Given the description of an element on the screen output the (x, y) to click on. 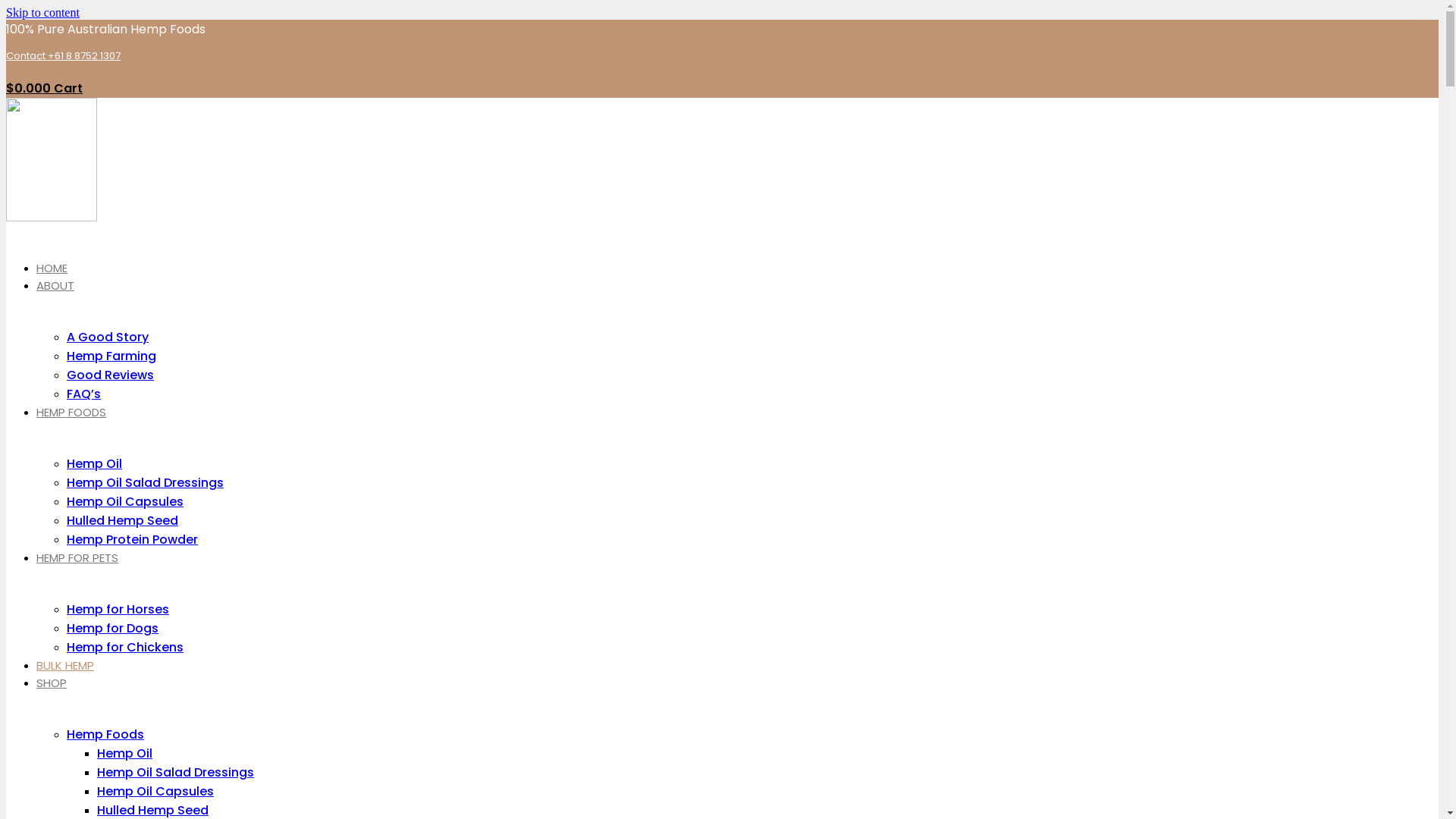
HOME Element type: text (51, 268)
$0.00
0 Cart Element type: text (44, 87)
BULK HEMP Element type: text (65, 665)
Hemp Farming Element type: text (111, 355)
Hemp for Dogs Element type: text (112, 628)
Hemp Oil Element type: text (124, 753)
HEMP FOR PETS Element type: text (77, 557)
Contact +61 8 8752 1307 Element type: text (63, 55)
Hemp Foods Element type: text (105, 734)
Hulled Hemp Seed Element type: text (122, 520)
A Good Story Element type: text (107, 336)
Skip to content Element type: text (42, 12)
Hemp for Chickens Element type: text (124, 646)
Good Reviews Element type: text (109, 374)
Hemp Oil Salad Dressings Element type: text (175, 772)
Hemp Oil Element type: text (94, 463)
Hemp Oil Capsules Element type: text (124, 501)
ABOUT Element type: text (55, 285)
SHOP Element type: text (51, 682)
Hemp for Horses Element type: text (117, 609)
Hemp Oil Capsules Element type: text (155, 791)
HEMP FOODS Element type: text (71, 412)
Hemp Protein Powder Element type: text (131, 539)
Hemp Oil Salad Dressings Element type: text (144, 482)
